Given the description of an element on the screen output the (x, y) to click on. 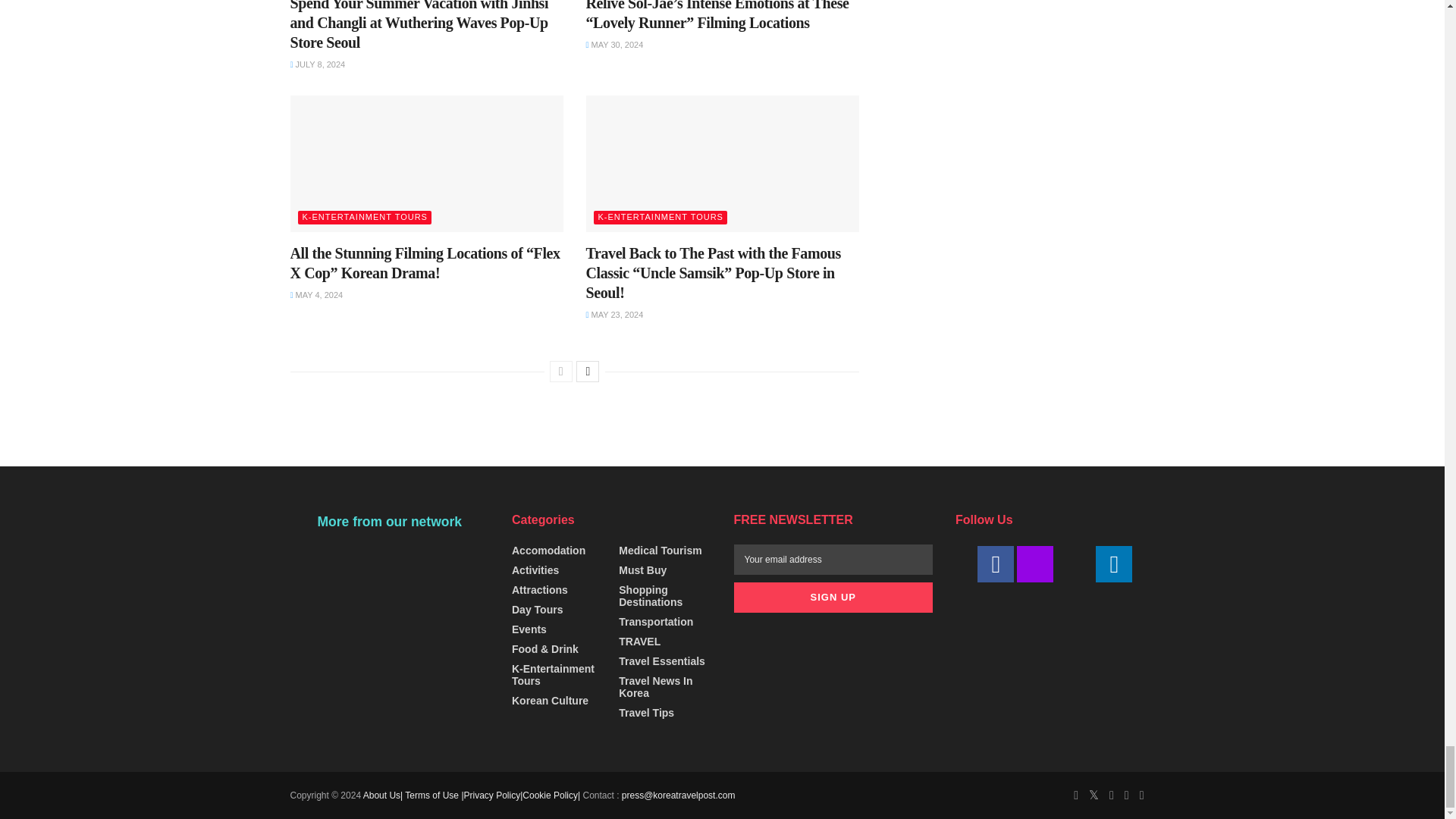
Sign up (833, 597)
